Given the description of an element on the screen output the (x, y) to click on. 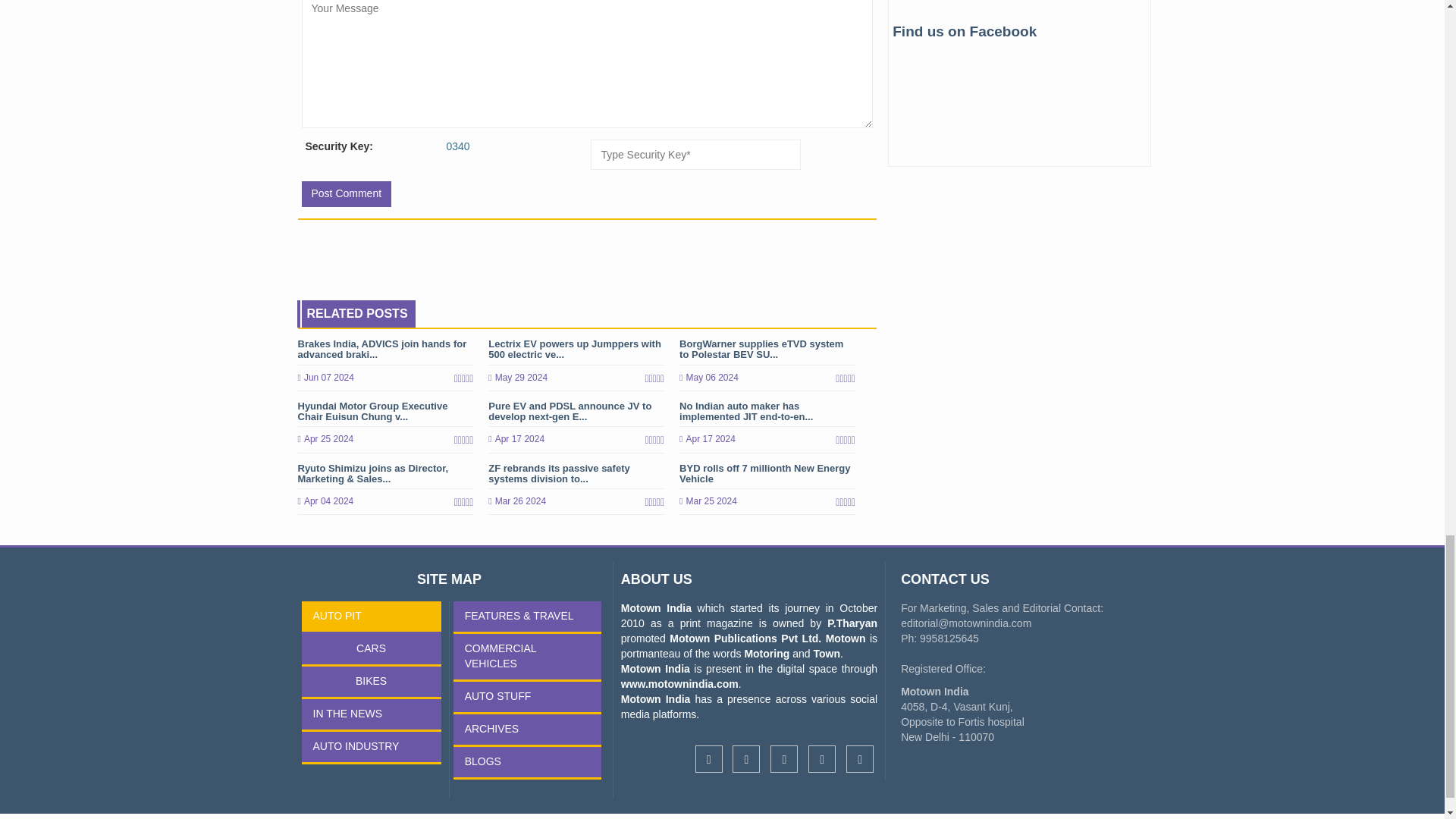
Post Comment (346, 193)
